Given the description of an element on the screen output the (x, y) to click on. 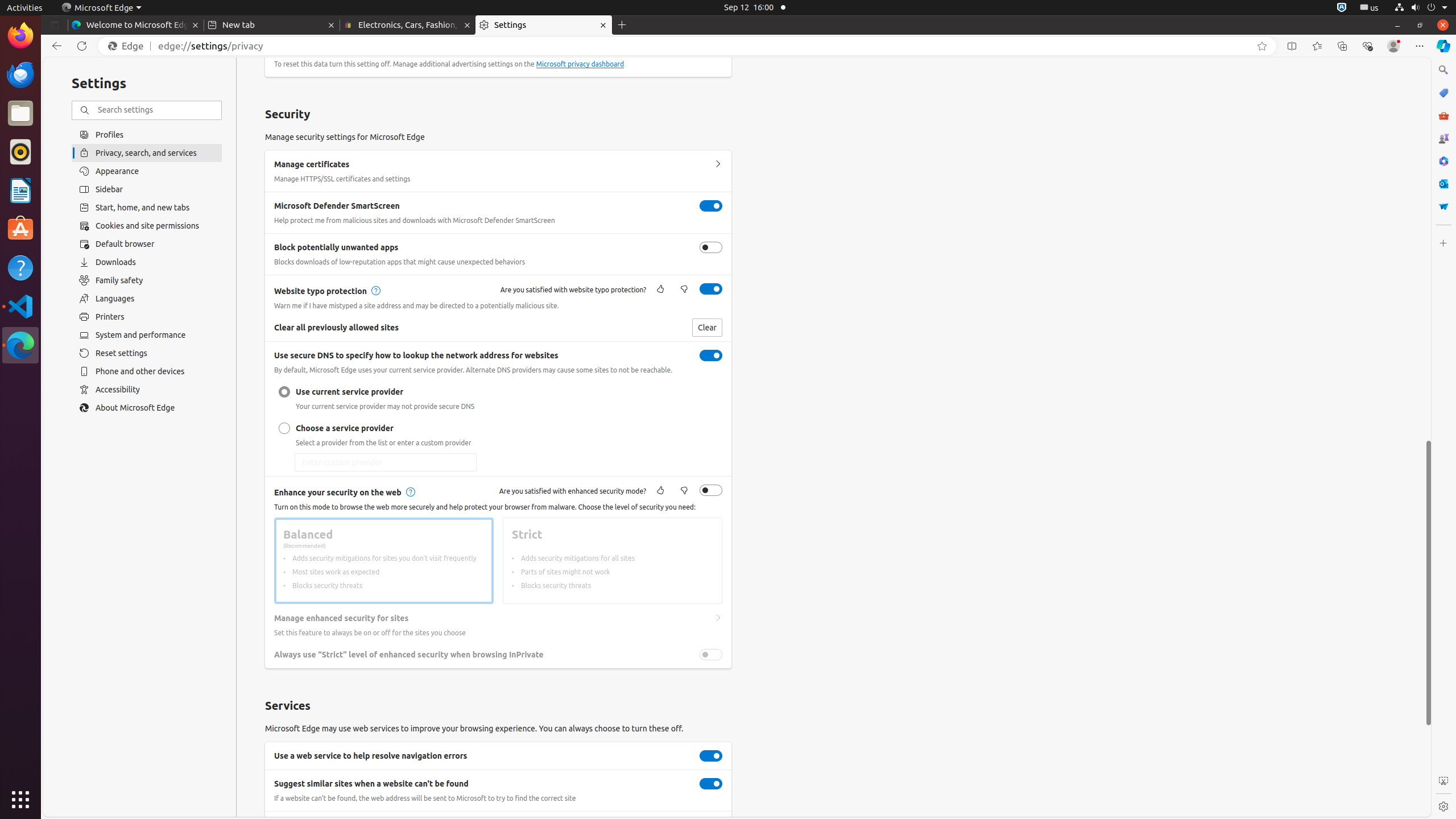
Copilot (Ctrl+Shift+.) Element type: push-button (1443, 45)
Always use “Strict” level of enhanced security when browsing InPrivate Element type: check-box (710, 654)
Appearance Element type: tree-item (146, 171)
Games Element type: push-button (1443, 137)
About Microsoft Edge Element type: tree-item (146, 407)
